Given the description of an element on the screen output the (x, y) to click on. 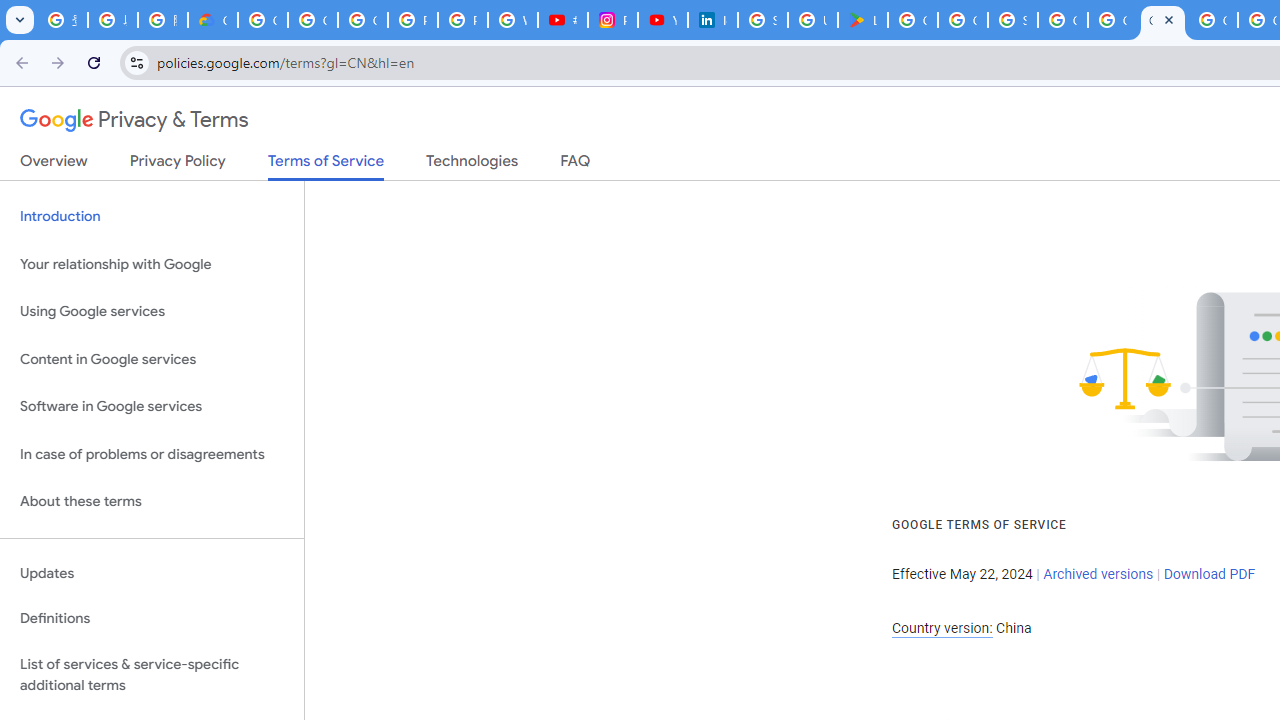
YouTube Culture & Trends - On The Rise: Handcam Videos (662, 20)
Archived versions (1098, 574)
Last Shelter: Survival - Apps on Google Play (863, 20)
List of services & service-specific additional terms (152, 674)
Privacy Help Center - Policies Help (462, 20)
